Given the description of an element on the screen output the (x, y) to click on. 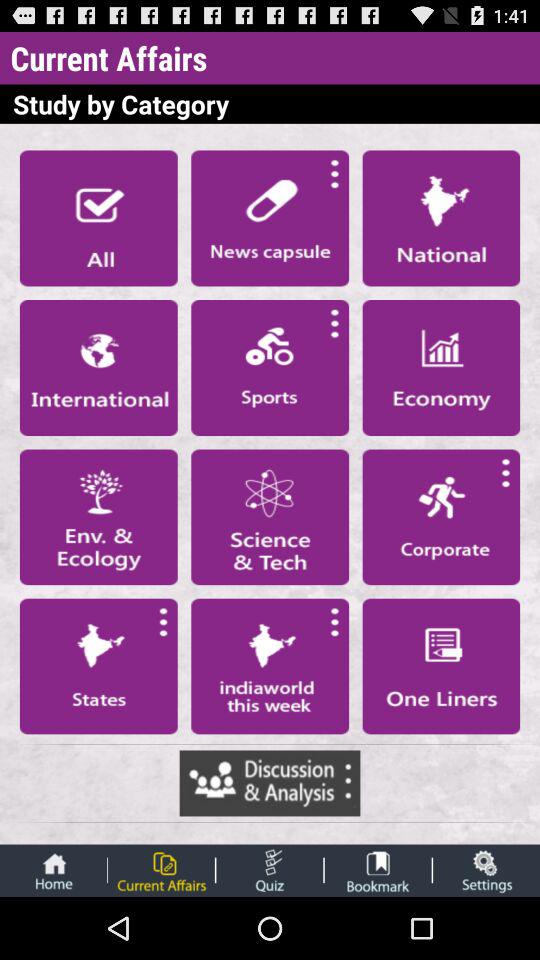
etc (269, 870)
